Given the description of an element on the screen output the (x, y) to click on. 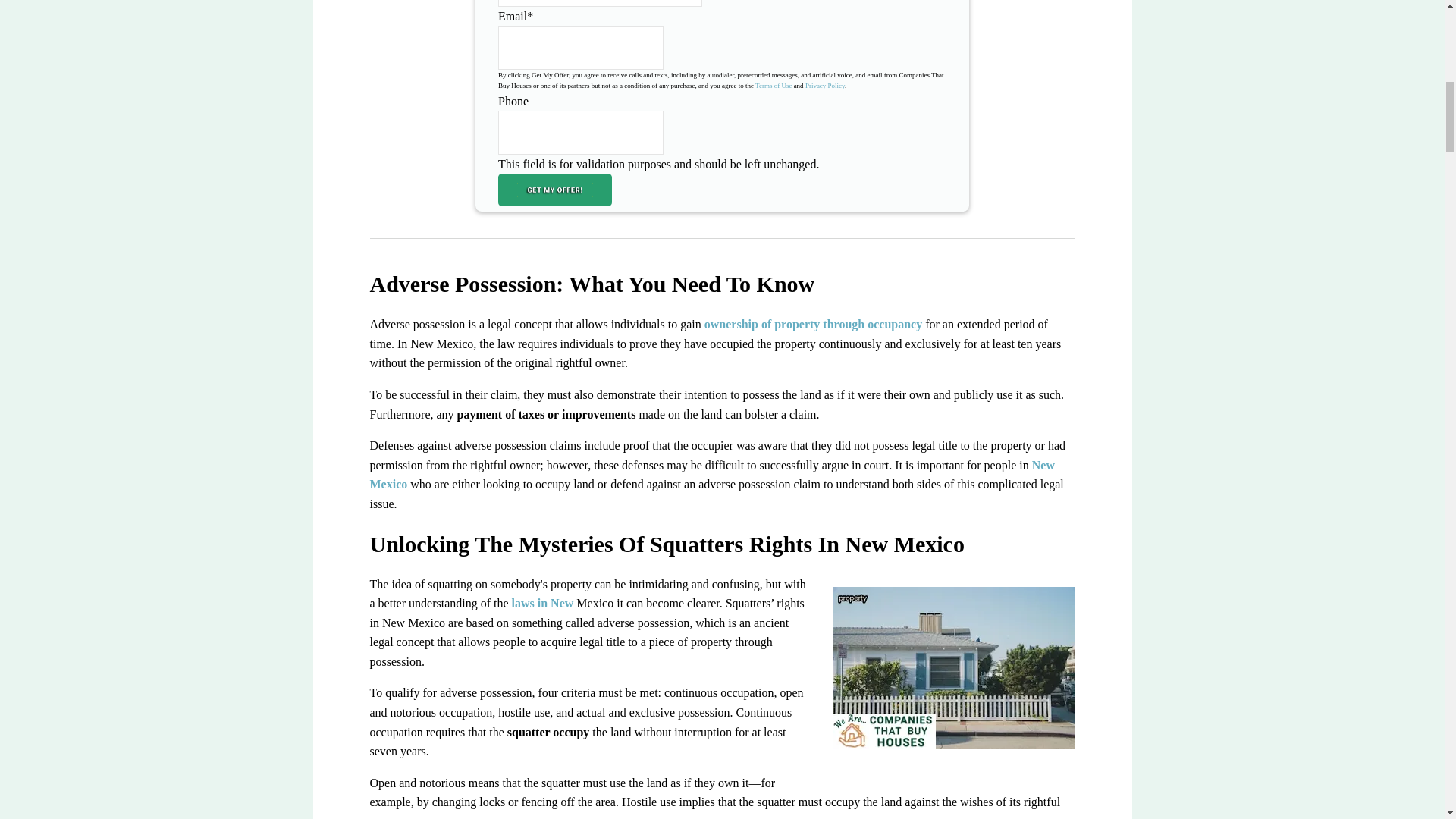
ownership of property through occupancy (812, 323)
New Mexico (711, 474)
Terms of Use (773, 85)
laws in New (542, 603)
Privacy Policy (824, 85)
